Given the description of an element on the screen output the (x, y) to click on. 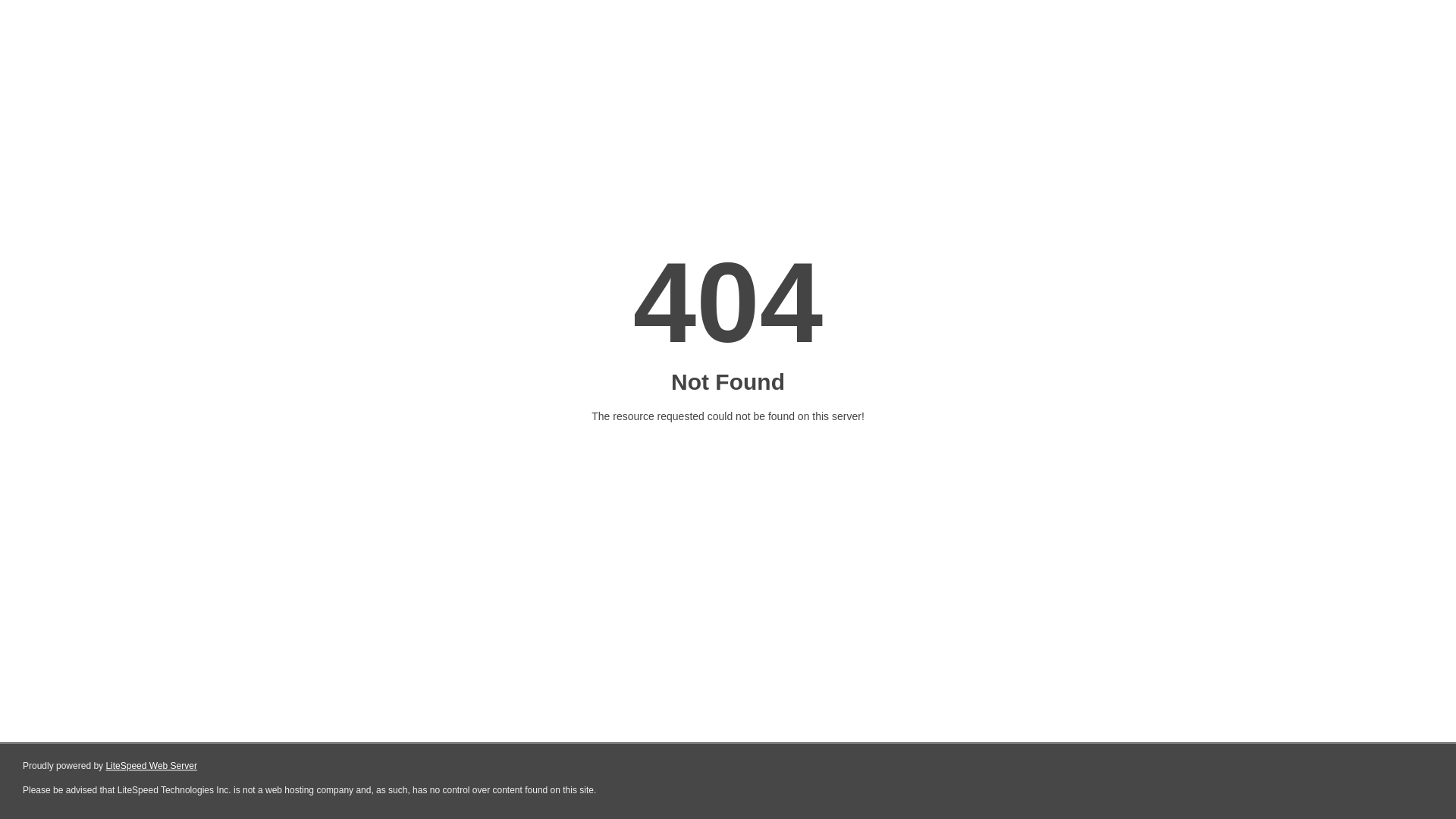
LiteSpeed Web Server Element type: text (151, 765)
